Given the description of an element on the screen output the (x, y) to click on. 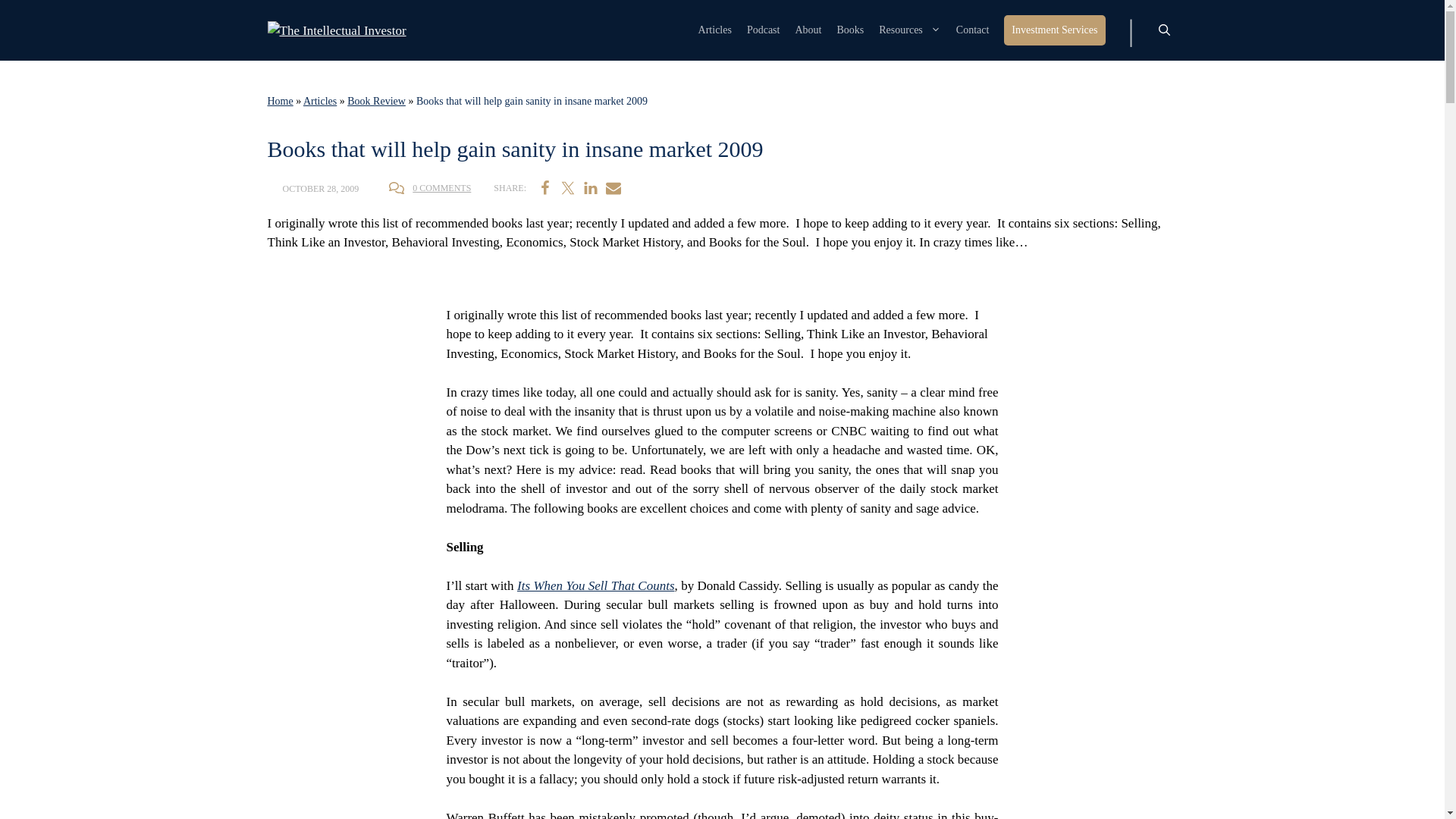
Resources (909, 30)
Home (279, 101)
Articles (715, 30)
Share on Facebook (545, 187)
Books (849, 30)
0 COMMENTS (441, 187)
Contact (973, 30)
Articles (319, 101)
Its When You Sell That Counts (595, 585)
Share on Twitter (567, 187)
